Given the description of an element on the screen output the (x, y) to click on. 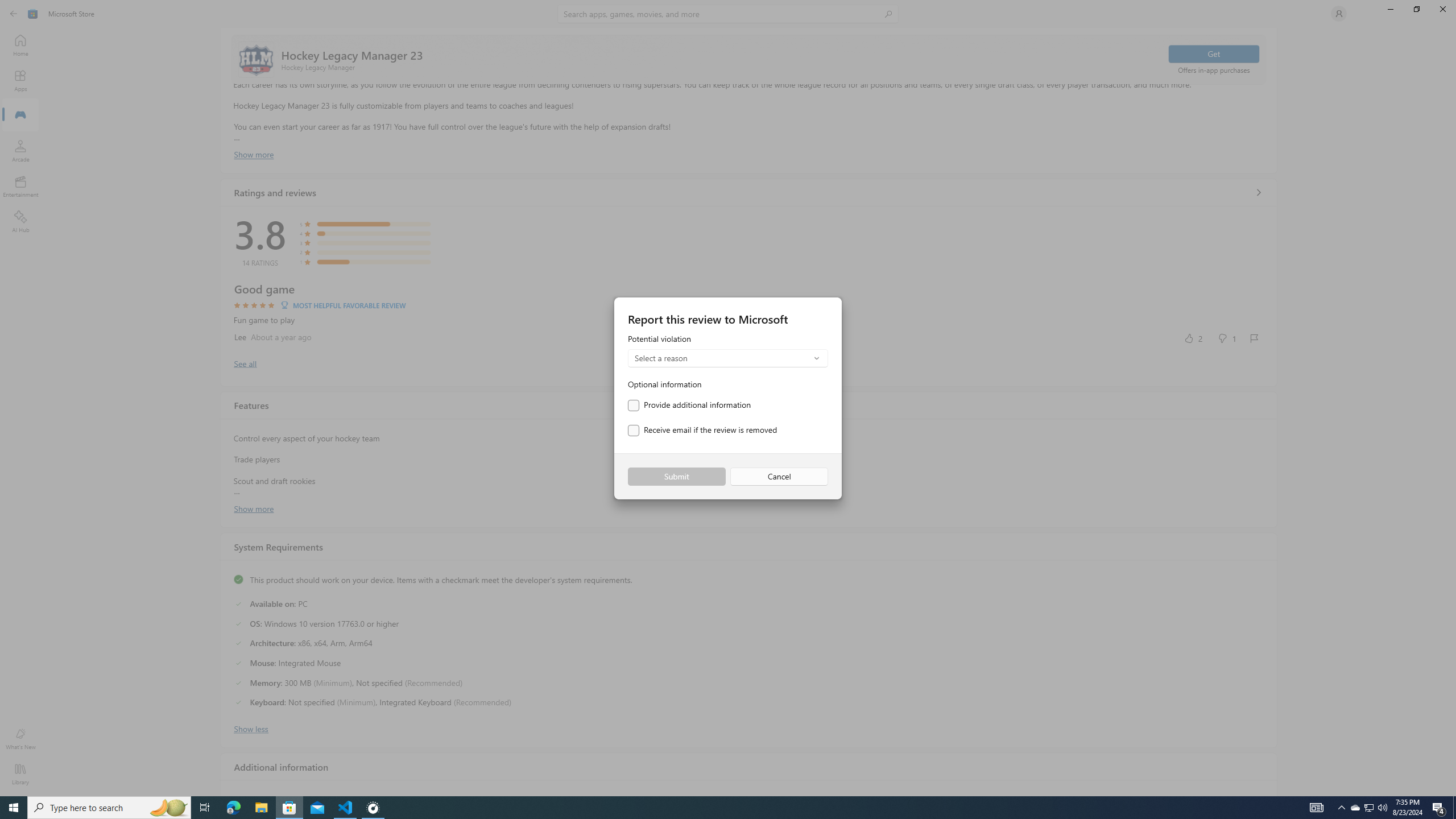
Scroll to top (748, 59)
